Given the description of an element on the screen output the (x, y) to click on. 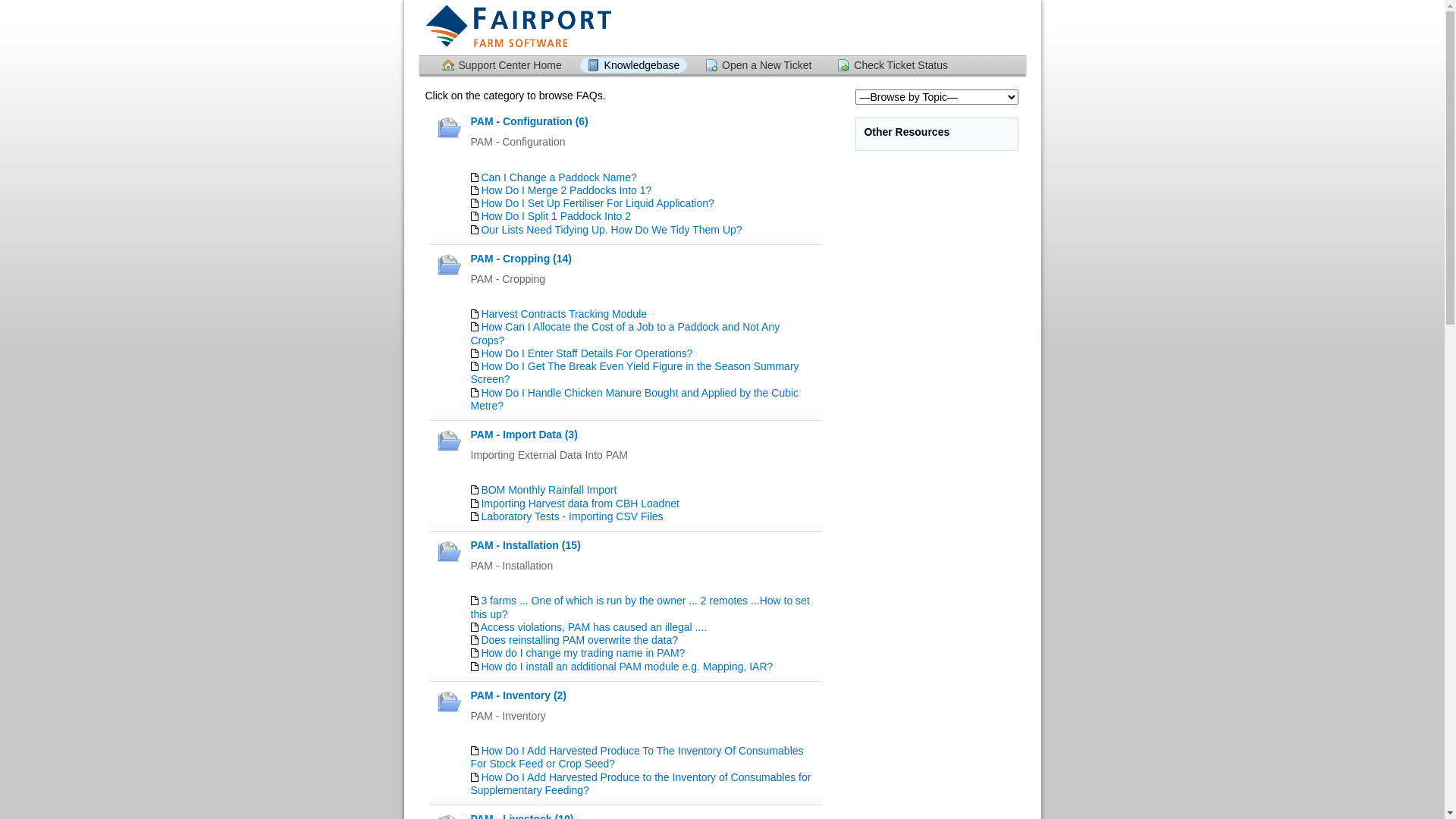
Access violations, PAM has caused an illegal .... Element type: text (593, 627)
PAM - Inventory (2) Element type: text (518, 695)
Importing Harvest data from CBH Loadnet Element type: text (579, 503)
PAM - Import Data (3) Element type: text (523, 434)
PAM - Configuration (6) Element type: text (528, 121)
PAM - Installation (15) Element type: text (525, 545)
PAM - Cropping (14) Element type: text (520, 258)
BOM Monthly Rainfall Import Element type: text (548, 489)
Open a New Ticket Element type: text (758, 64)
How Do I Enter Staff Details For Operations? Element type: text (586, 353)
Check Ticket Status Element type: text (892, 64)
How Do I Split 1 Paddock Into 2 Element type: text (555, 216)
Support Center Element type: hover (517, 26)
Harvest Contracts Tracking Module Element type: text (563, 313)
Laboratory Tests - Importing CSV Files Element type: text (571, 516)
Can I Change a Paddock Name? Element type: text (558, 177)
Knowledgebase Element type: text (633, 64)
How do I install an additional PAM module e.g. Mapping, IAR? Element type: text (626, 666)
How Do I Set Up Fertiliser For Liquid Application? Element type: text (596, 203)
Support Center Home Element type: text (500, 64)
Our Lists Need Tidying Up. How Do We Tidy Them Up? Element type: text (610, 229)
Does reinstalling PAM overwrite the data? Element type: text (578, 639)
How Do I Merge 2 Paddocks Into 1? Element type: text (565, 190)
How do I change my trading name in PAM? Element type: text (582, 652)
